Given the description of an element on the screen output the (x, y) to click on. 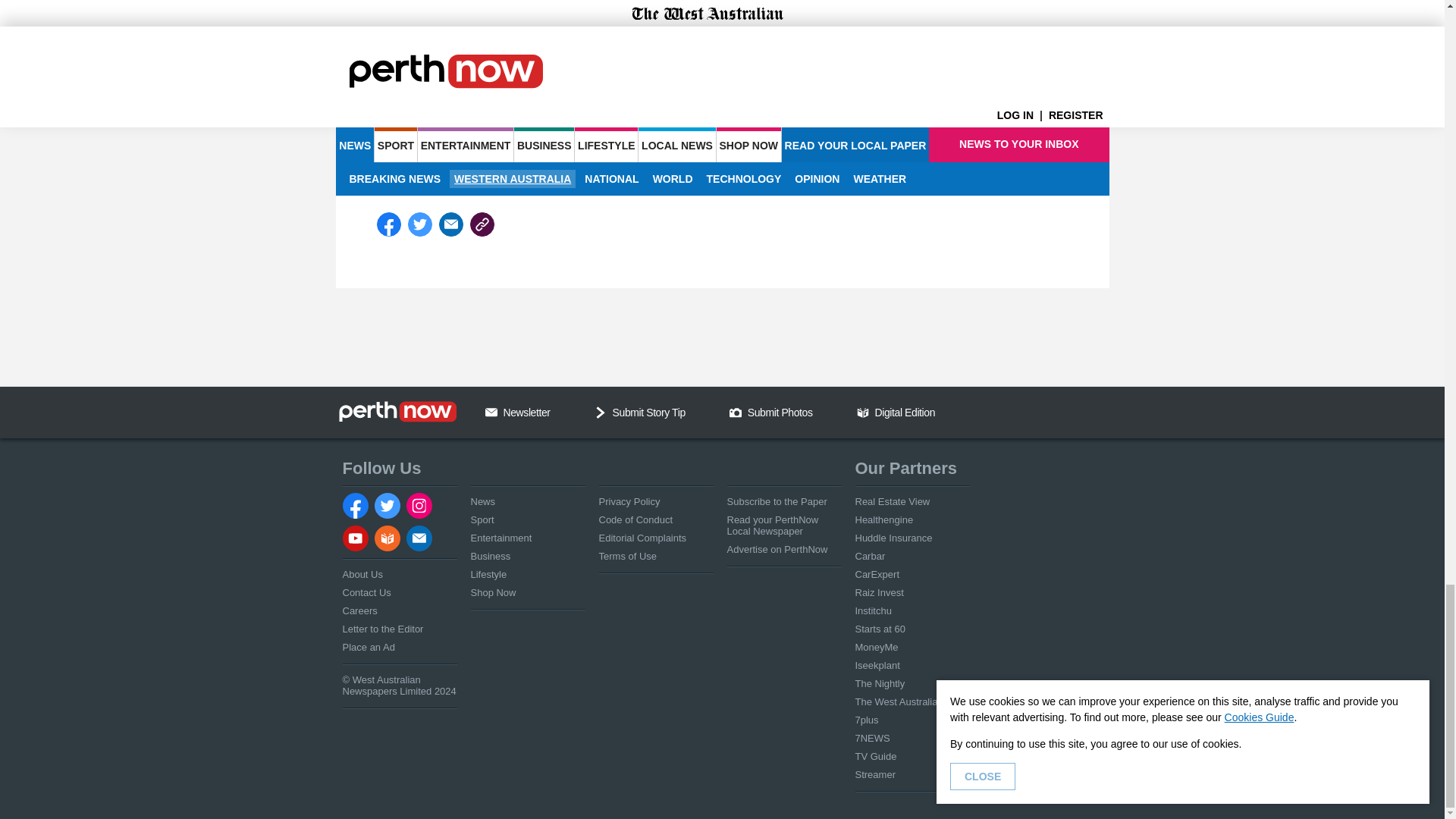
Camera Icon (735, 412)
Get Digital Edition (863, 412)
Chevron Down Icon (600, 412)
Email Us (490, 412)
